Given the description of an element on the screen output the (x, y) to click on. 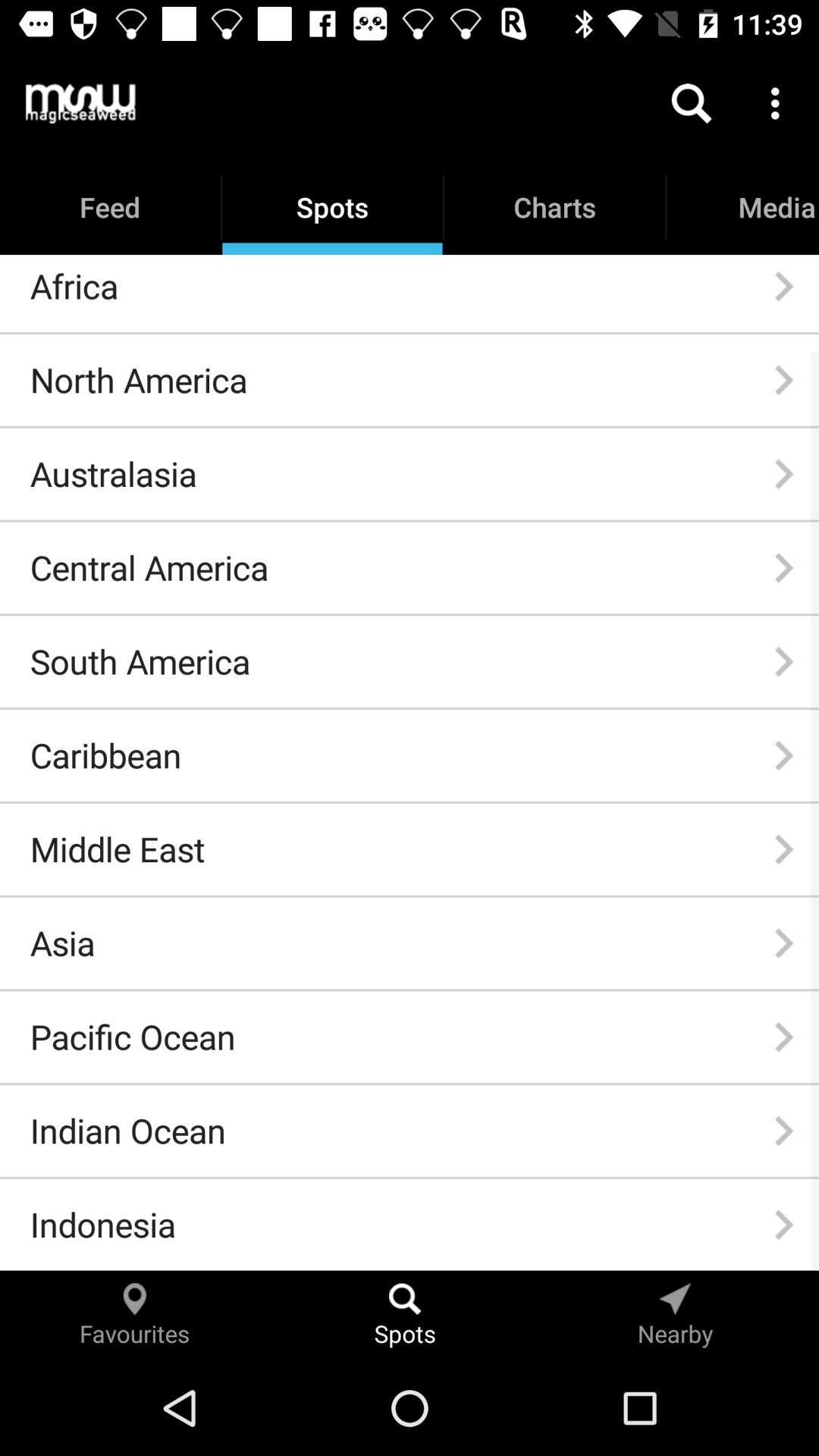
choose icon next to caribbean icon (784, 755)
